Given the description of an element on the screen output the (x, y) to click on. 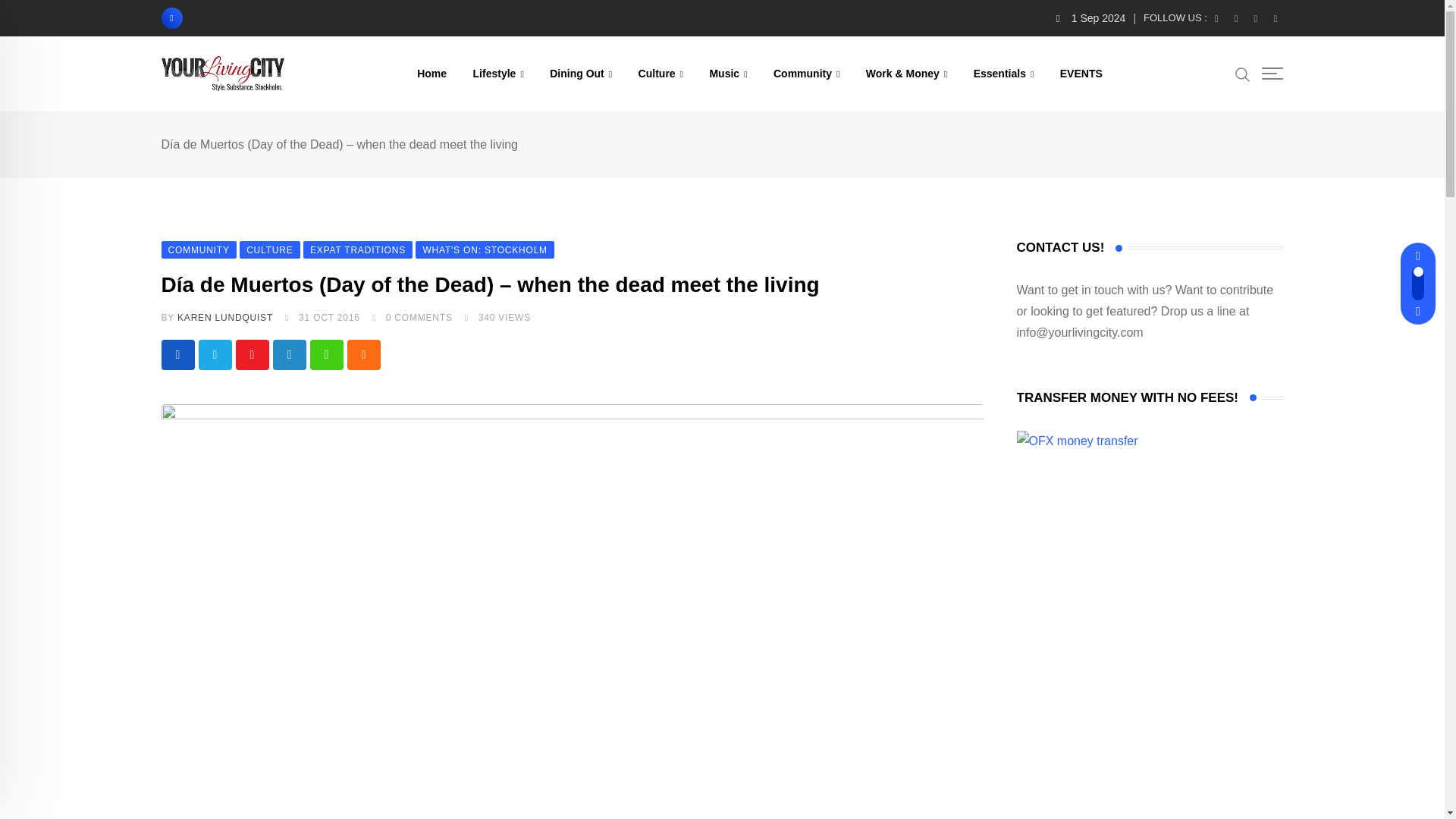
OFX (1076, 441)
Posts by Karen Lundquist (225, 317)
Search (1242, 73)
Lifestyle (498, 73)
Culture (660, 73)
Dining Out (580, 73)
